Given the description of an element on the screen output the (x, y) to click on. 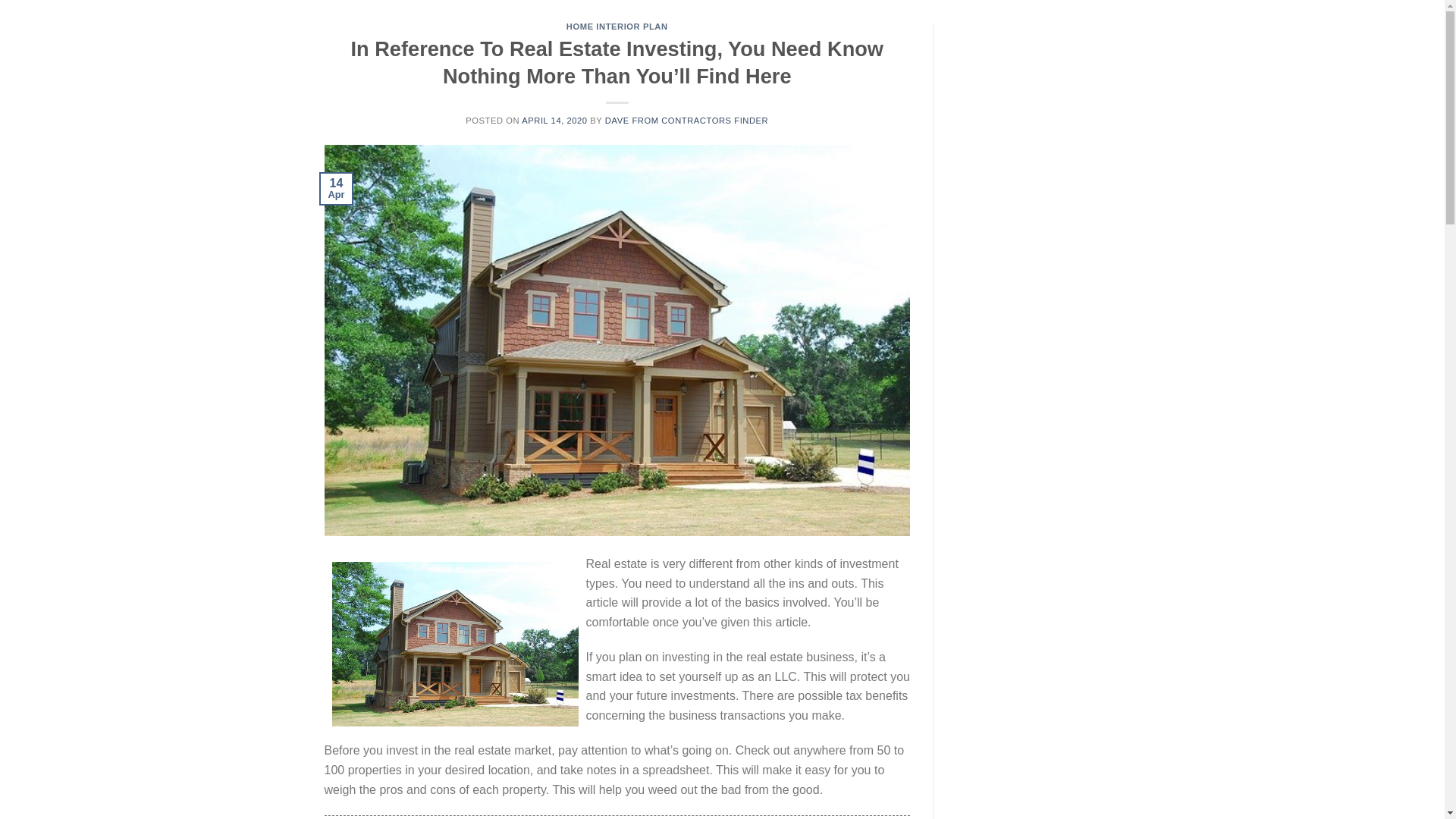
HOME INTERIOR PLAN (617, 26)
APRIL 14, 2020 (553, 120)
DAVE FROM CONTRACTORS FINDER (686, 120)
